Given the description of an element on the screen output the (x, y) to click on. 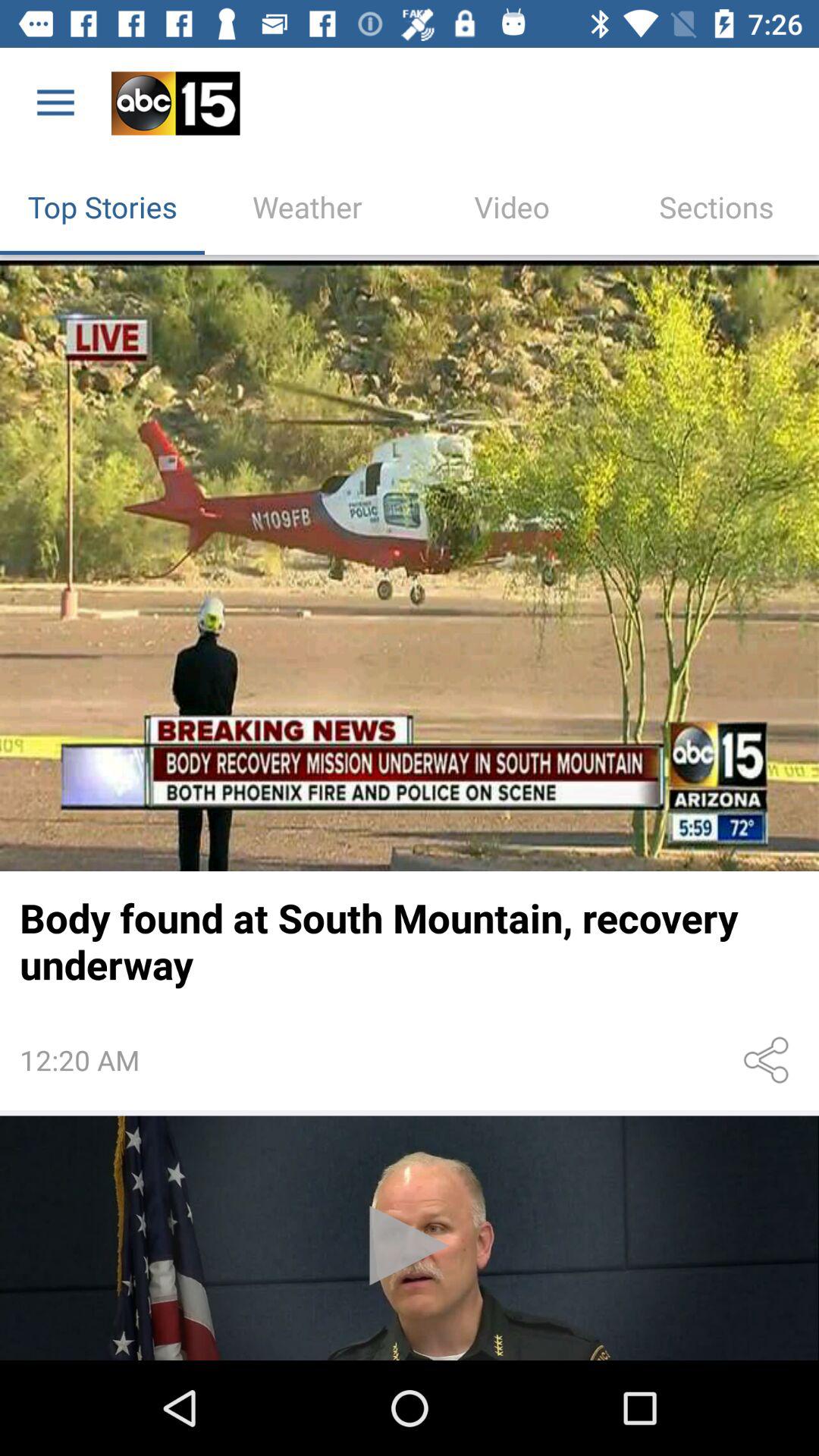
news (409, 565)
